Given the description of an element on the screen output the (x, y) to click on. 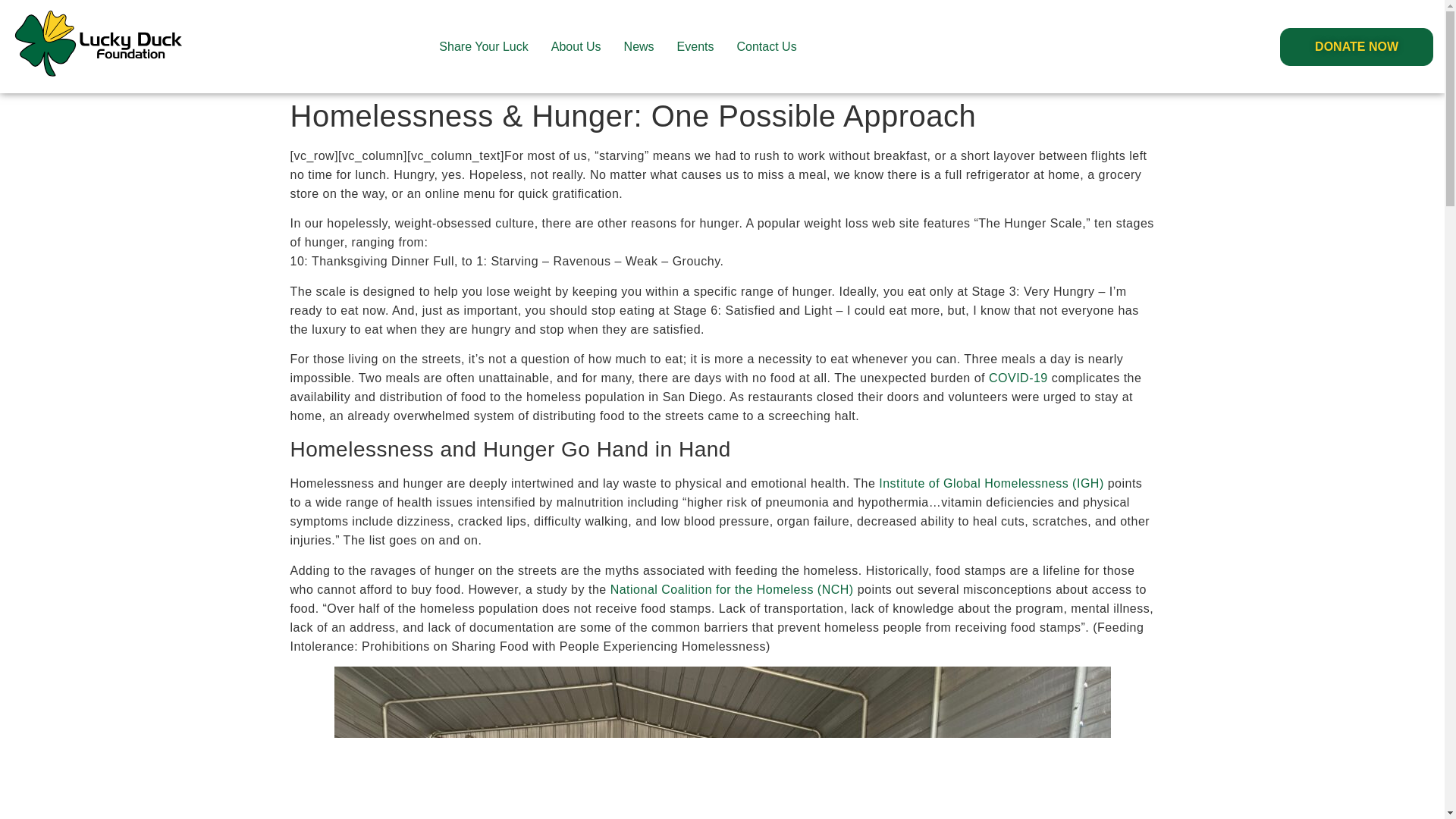
News (638, 46)
About Us (576, 46)
Share Your Luck (483, 46)
Events (695, 46)
Contact Us (766, 46)
